Given the description of an element on the screen output the (x, y) to click on. 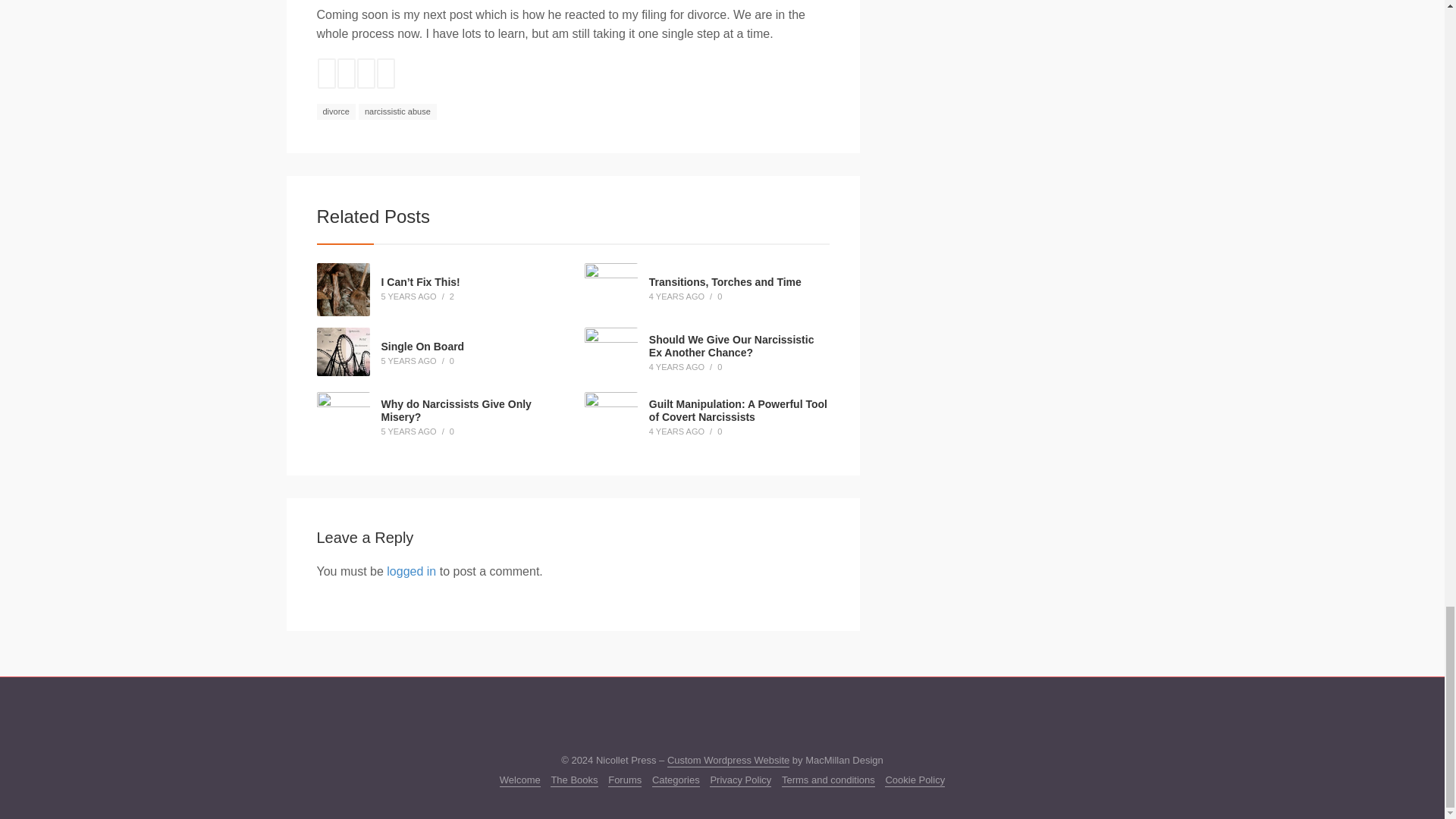
narcissistic abuse (397, 112)
divorce (336, 112)
